Given the description of an element on the screen output the (x, y) to click on. 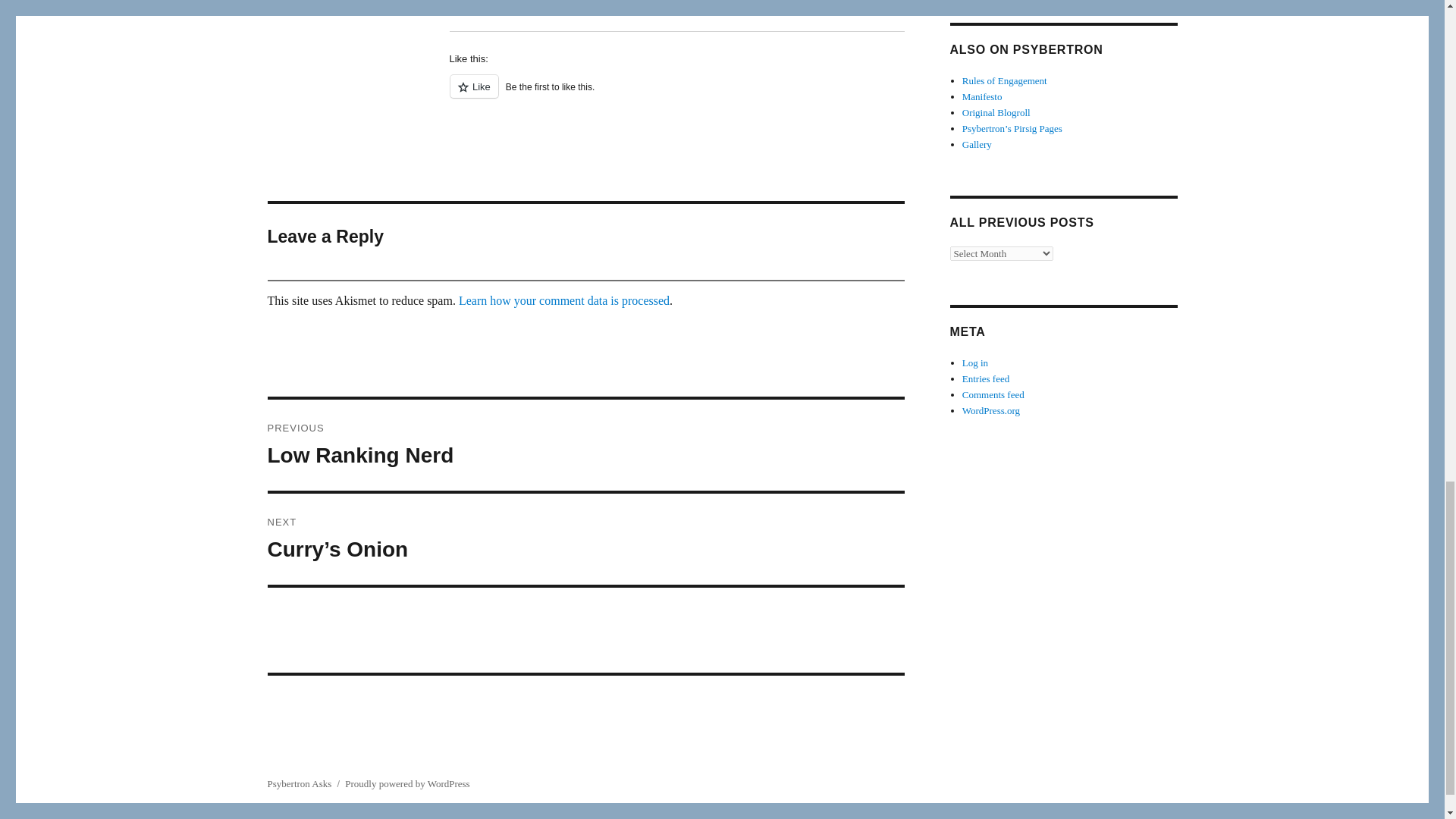
Like or Reblog (676, 95)
Learn how your comment data is processed (563, 300)
